Given the description of an element on the screen output the (x, y) to click on. 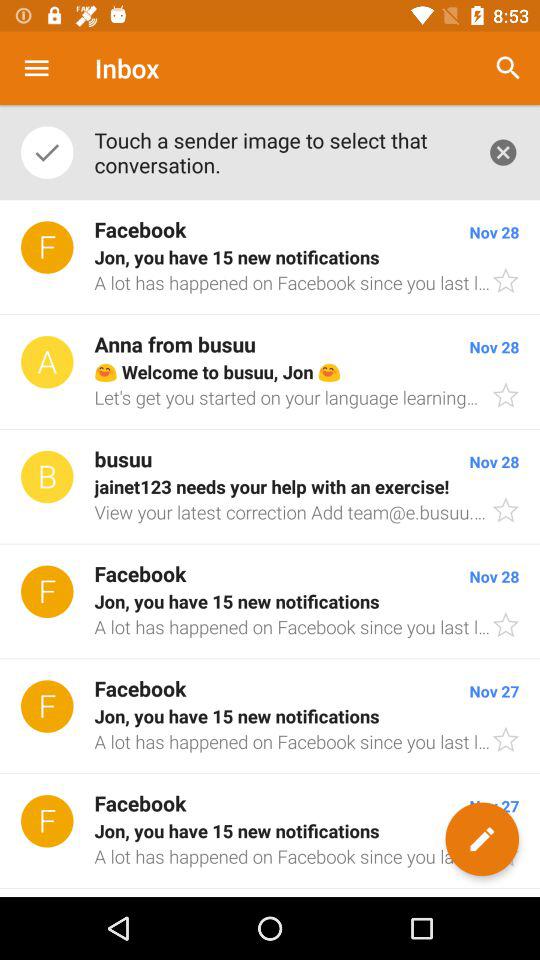
launch touch a sender (280, 152)
